Given the description of an element on the screen output the (x, y) to click on. 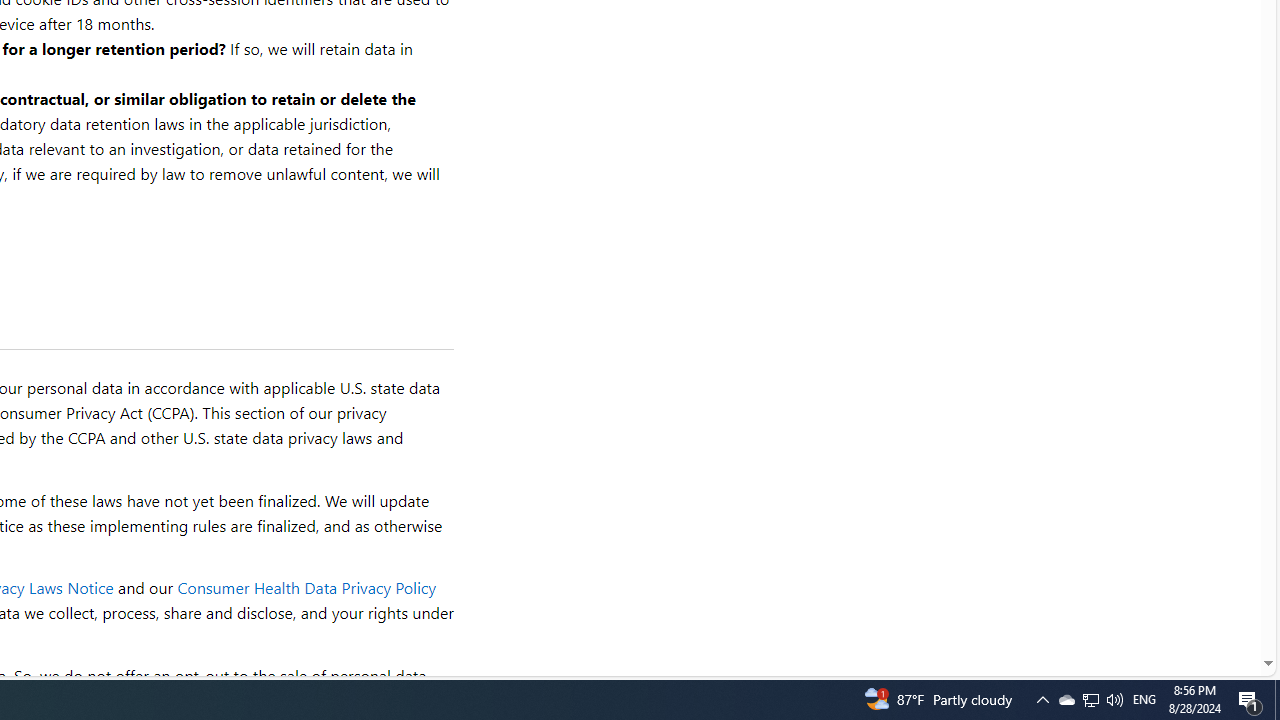
Consumer Health Data Privacy Policy (306, 587)
